Given the description of an element on the screen output the (x, y) to click on. 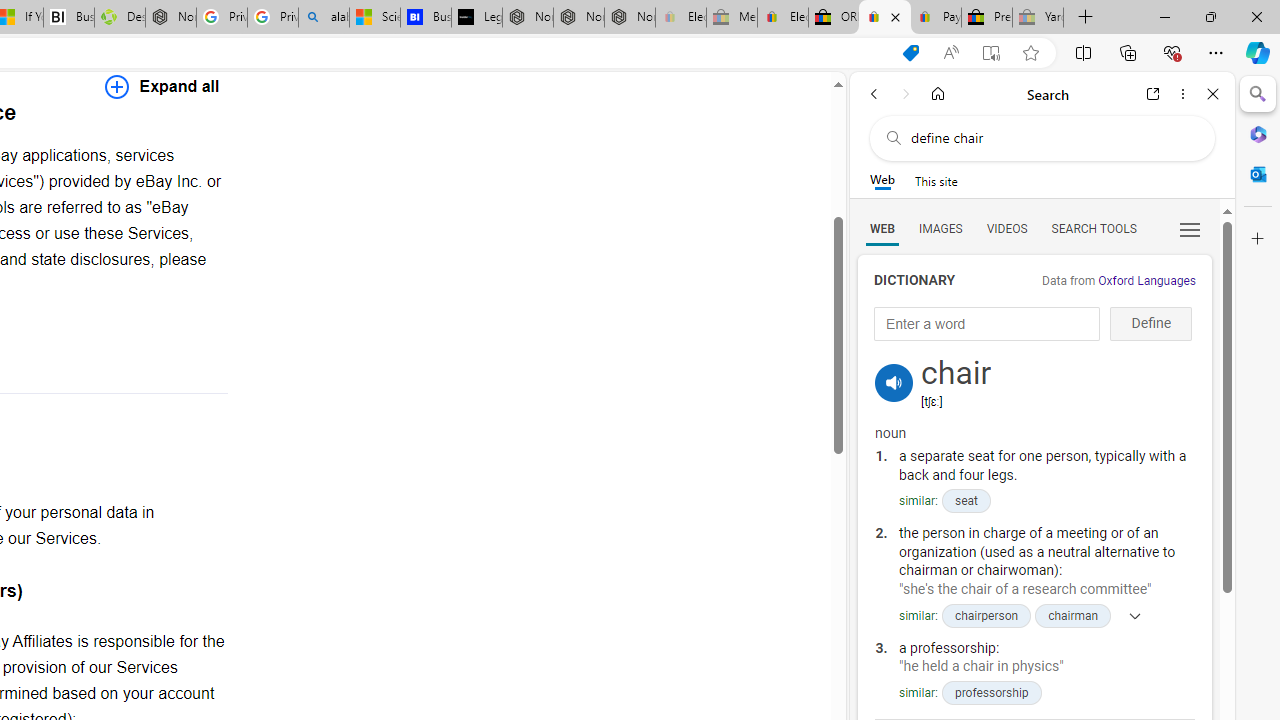
Descarga Driver Updater (119, 17)
Nordace - My Account (170, 17)
Oxford Languages (1146, 281)
Show more (1129, 615)
